Given the description of an element on the screen output the (x, y) to click on. 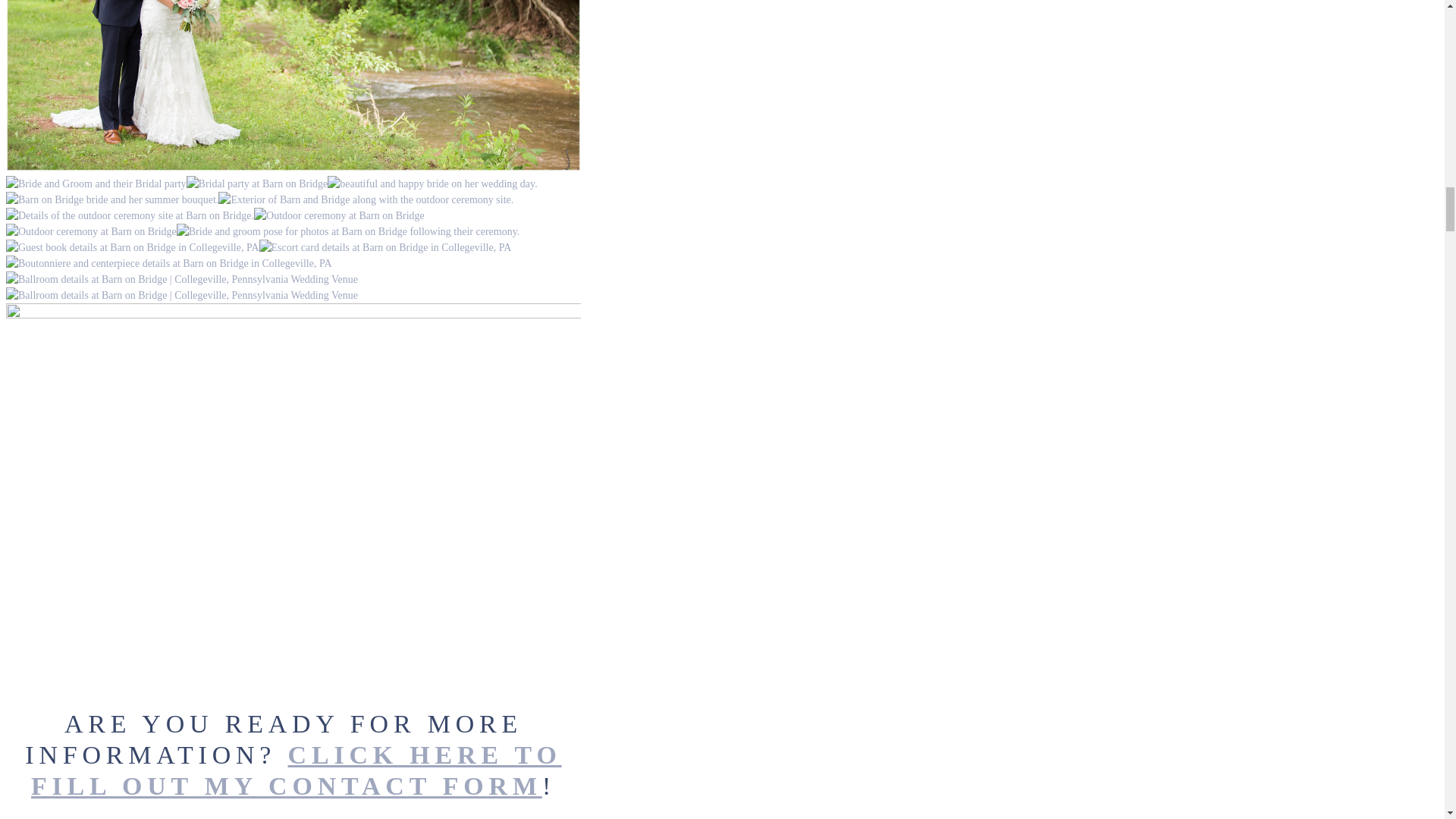
CLICK HERE TO FILL OUT MY CONTACT FORM (296, 770)
